Given the description of an element on the screen output the (x, y) to click on. 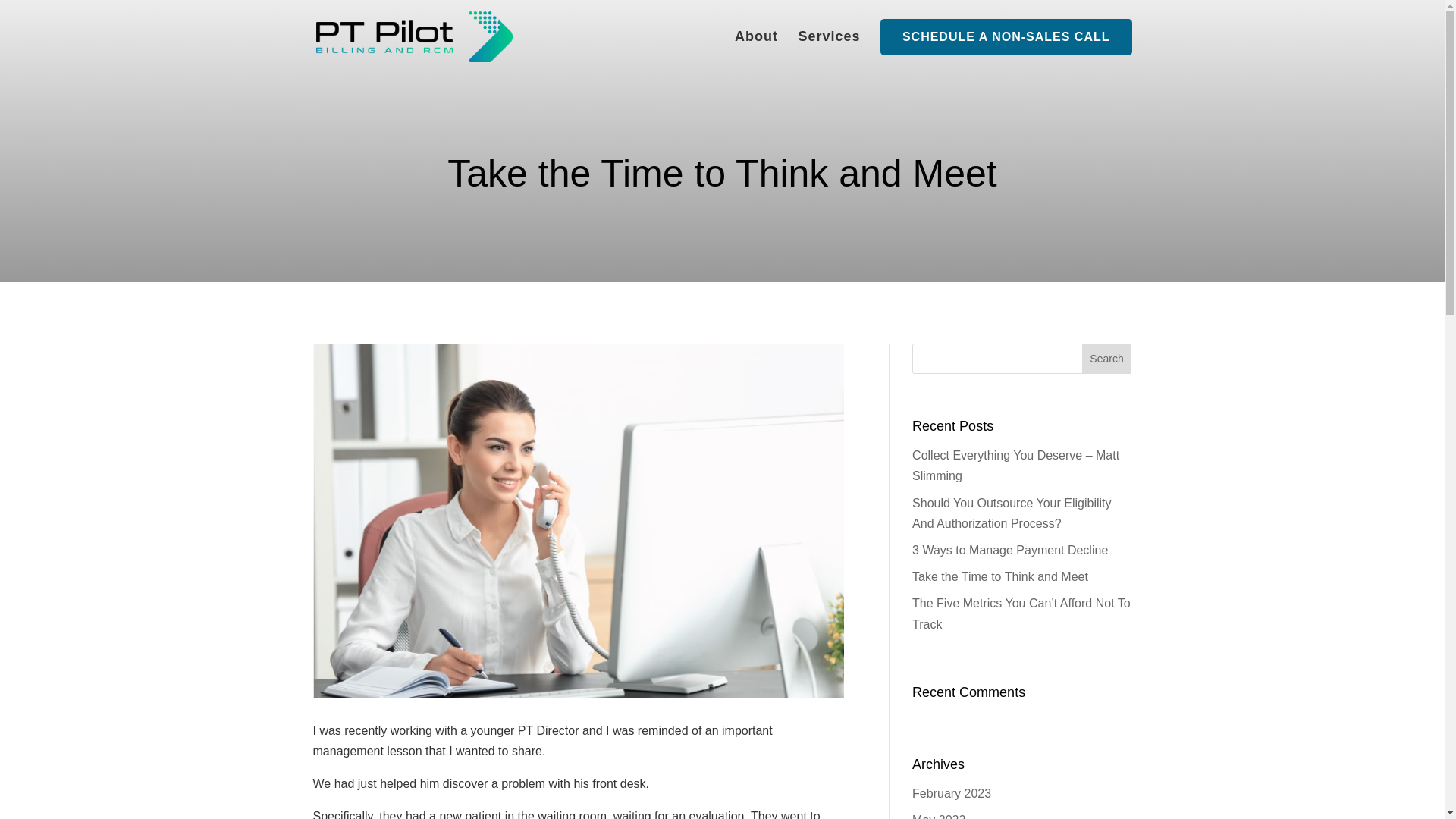
Services (828, 47)
Search (1106, 358)
Take the Time to Think and Meet (999, 576)
About (756, 47)
3 Ways to Manage Payment Decline (1010, 549)
February 2023 (951, 793)
May 2022 (938, 816)
Search (1106, 358)
SCHEDULE A NON-SALES CALL (1006, 36)
